Given the description of an element on the screen output the (x, y) to click on. 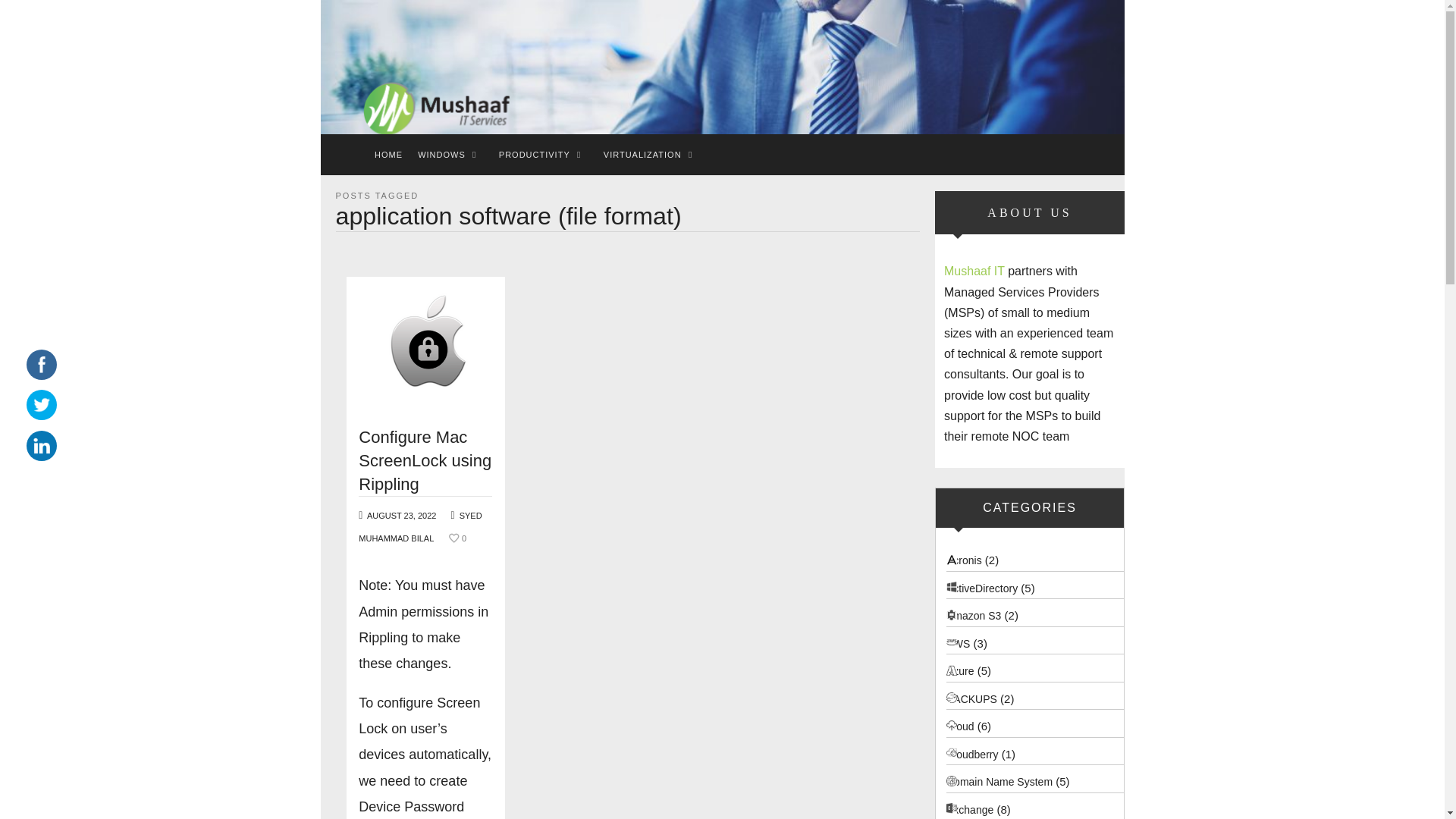
WINDOWS (441, 154)
Exchange (969, 809)
0 (456, 538)
Cloudberry (971, 754)
ActiveDirectory (981, 588)
Configure Mac ScreenLock using Rippling (425, 460)
AWS (957, 644)
Domain Name System (999, 781)
Acronis (963, 560)
SYED MUHAMMAD BILAL (419, 526)
Search (40, 17)
BACKUPS (971, 698)
AUGUST 23, 2022 (401, 515)
Amazon S3 (973, 615)
slider1 (722, 67)
